Given the description of an element on the screen output the (x, y) to click on. 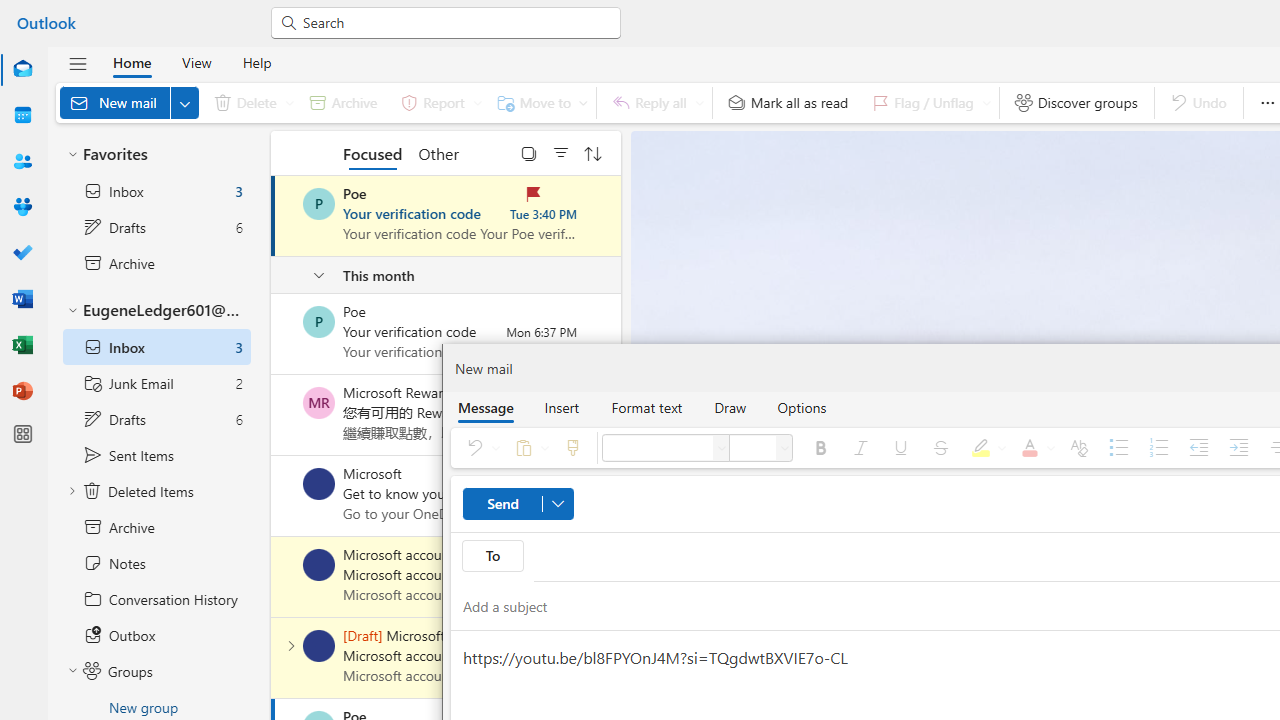
Select (529, 152)
Font size (752, 448)
Filter (561, 152)
